Given the description of an element on the screen output the (x, y) to click on. 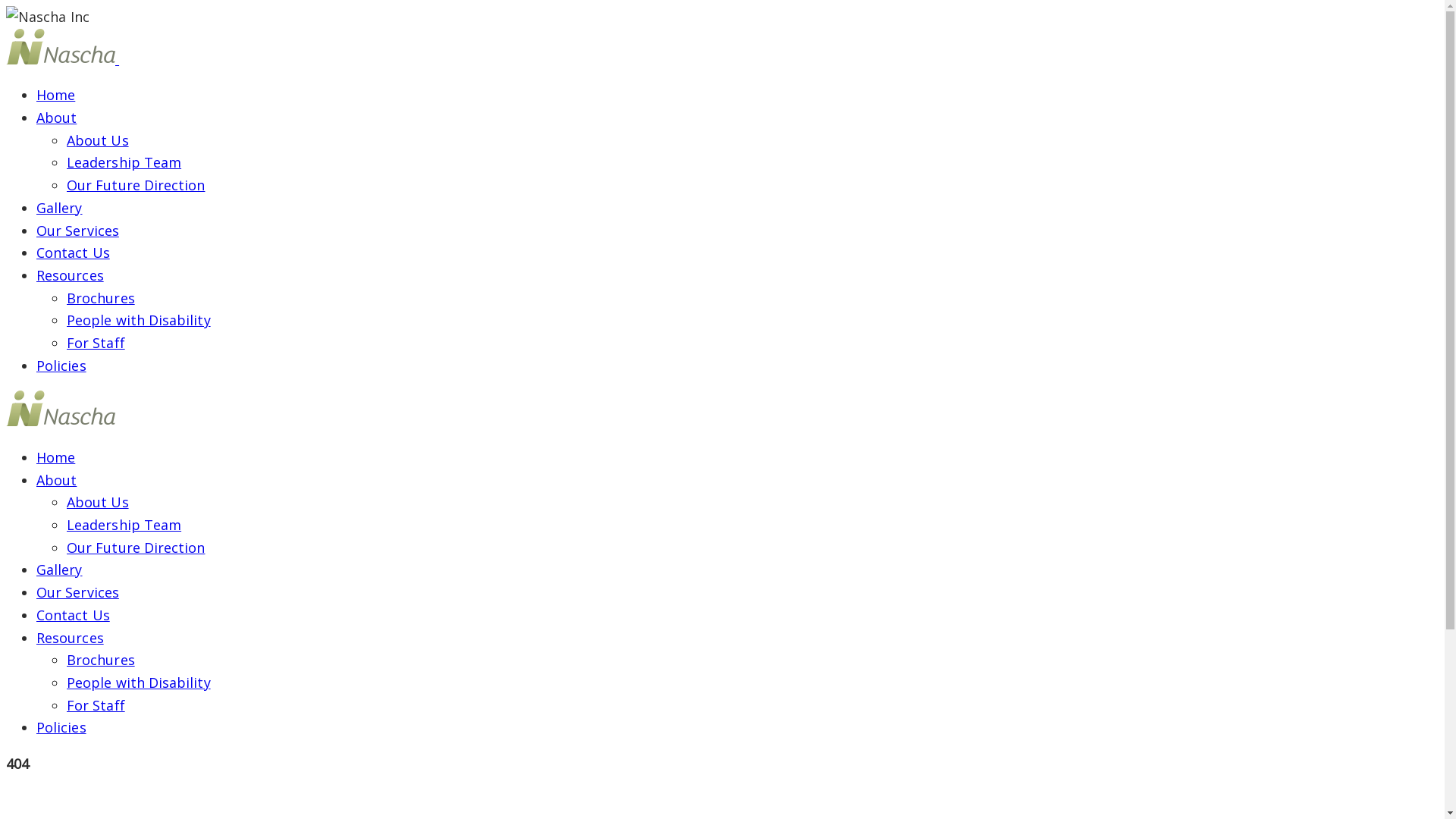
Leadership Team Element type: text (123, 524)
Contact Us Element type: text (72, 252)
People with Disability Element type: text (138, 682)
Brochures Element type: text (100, 297)
Home Element type: text (55, 457)
Our Future Direction Element type: text (135, 547)
About Us Element type: text (97, 140)
Gallery Element type: text (59, 207)
Our Services Element type: text (77, 592)
Policies Element type: text (61, 727)
Home Element type: text (55, 94)
Resources Element type: text (69, 636)
Our Future Direction Element type: text (135, 184)
People with Disability Element type: text (138, 319)
For Staff Element type: text (95, 705)
About Element type: text (56, 479)
About Us Element type: text (97, 501)
For Staff Element type: text (95, 342)
Contact Us Element type: text (72, 614)
Our Services Element type: text (77, 230)
About Element type: text (56, 117)
Resources Element type: text (69, 275)
Leadership Team Element type: text (123, 162)
Brochures Element type: text (100, 659)
Policies Element type: text (61, 365)
Gallery Element type: text (59, 569)
